Given the description of an element on the screen output the (x, y) to click on. 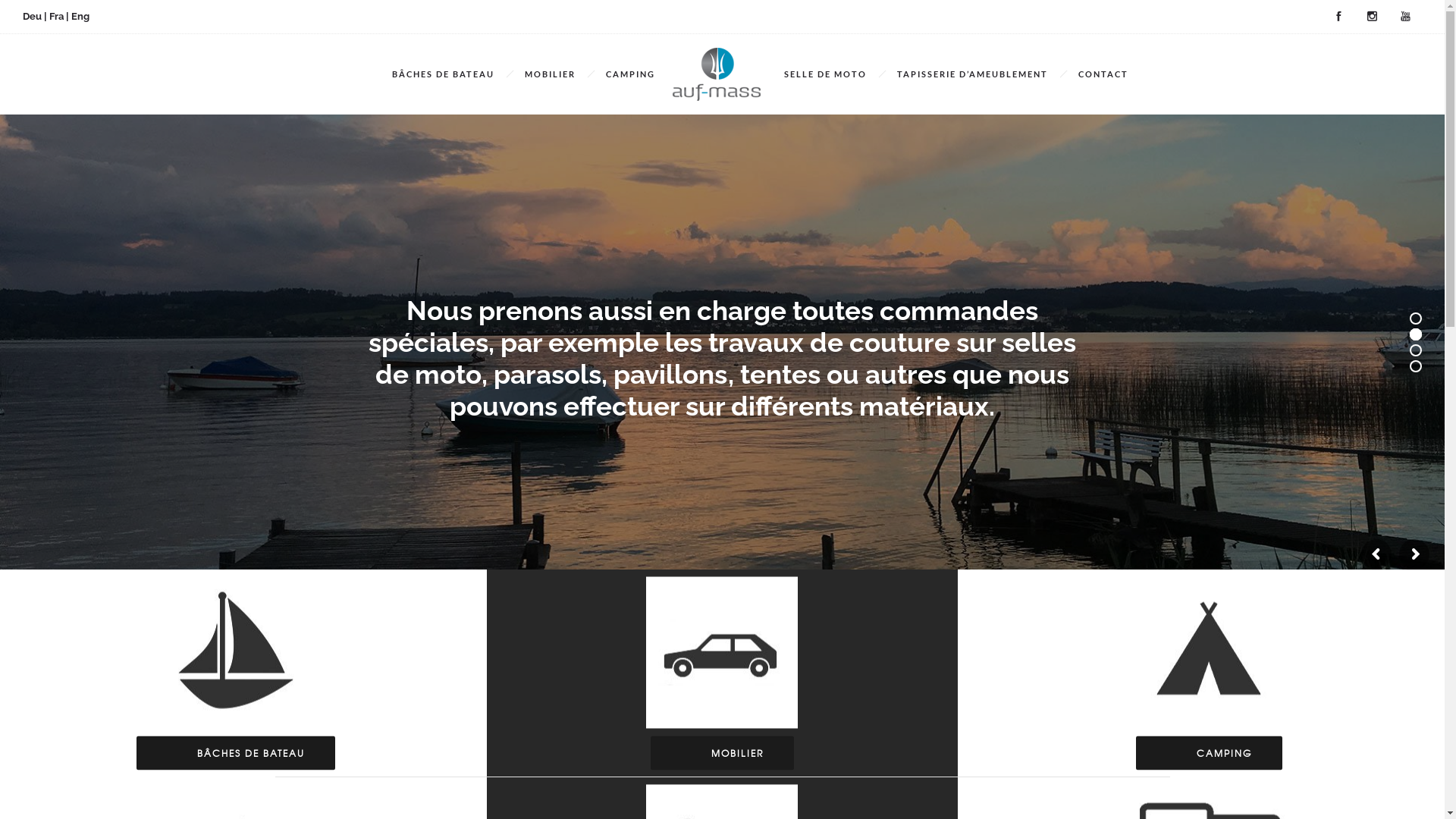
Eng Element type: text (80, 15)
Fra Element type: text (56, 15)
CAMPING Element type: text (1208, 753)
MOBILIER Element type: text (549, 74)
Instagram Element type: hover (1371, 16)
SELLE DE MOTO Element type: text (824, 74)
CONTACT Element type: text (1103, 74)
Tent Element type: hover (1208, 652)
YouTube Element type: hover (1404, 16)
Facebook Element type: hover (1338, 16)
Car-1 Element type: hover (721, 652)
MOBILIER Element type: text (721, 753)
Deu Element type: text (31, 15)
CAMPING Element type: text (630, 74)
Sailboat Element type: hover (235, 652)
